Given the description of an element on the screen output the (x, y) to click on. 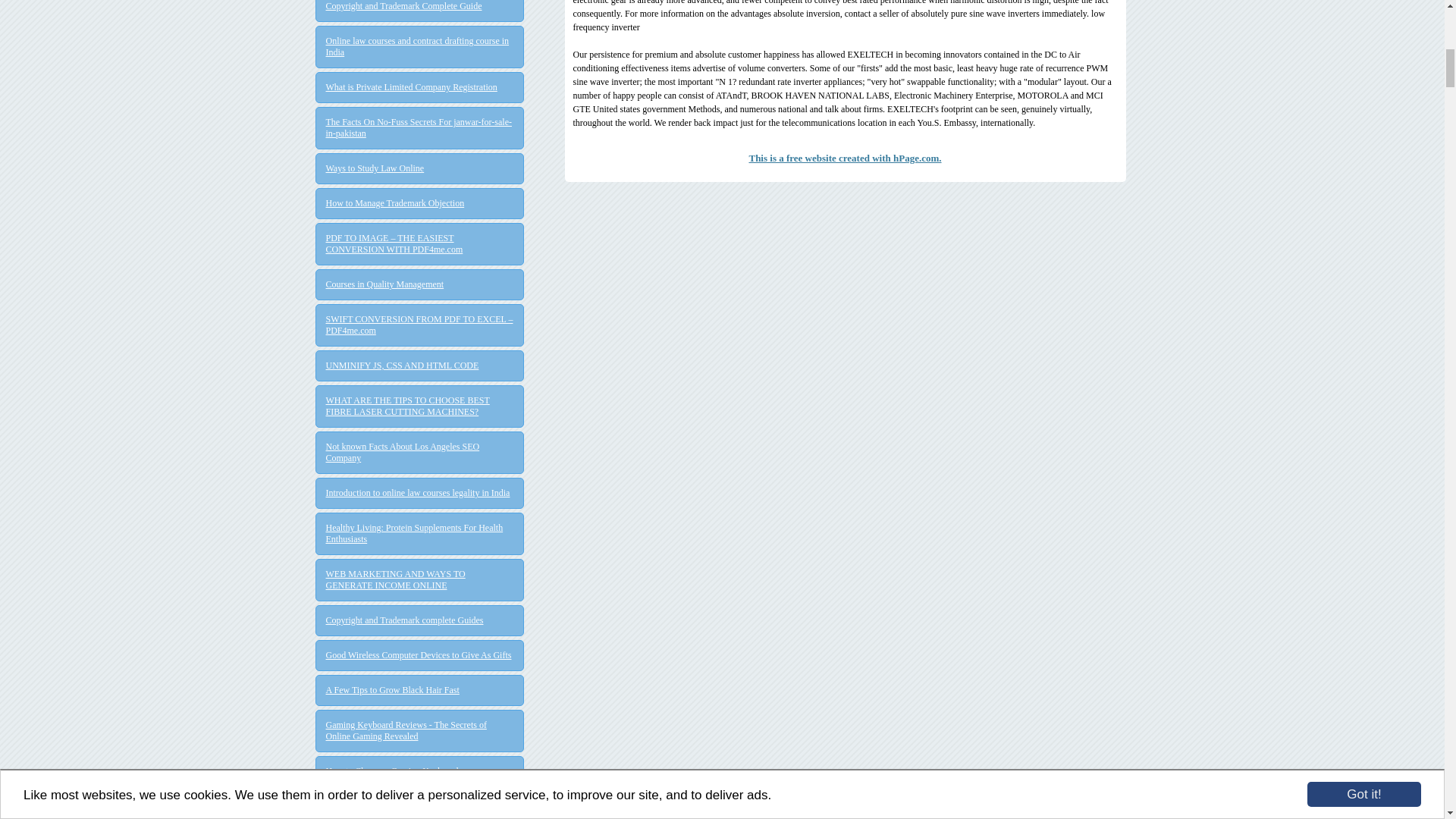
Good Wireless Computer Devices to Give As Gifts (419, 655)
Copyright and Trademark complete Guides (419, 620)
Online law courses and contract drafting course in India (419, 47)
The Facts On No-Fuss Secrets For janwar-for-sale-in-pakistan (419, 128)
UNMINIFY JS, CSS AND HTML CODE (419, 365)
Courses in Quality Management (419, 284)
Copyright and Trademark Complete Guide (419, 6)
What is Private Limited Company Registration (419, 87)
Healthy Living: Protein Supplements For Health Enthusiasts (419, 533)
Not known Facts About Los Angeles SEO Company (419, 452)
Introduction to online law courses legality in India (419, 492)
WEB MARKETING AND WAYS TO GENERATE INCOME ONLINE (419, 579)
How to Manage Trademark Objection (419, 203)
